Given the description of an element on the screen output the (x, y) to click on. 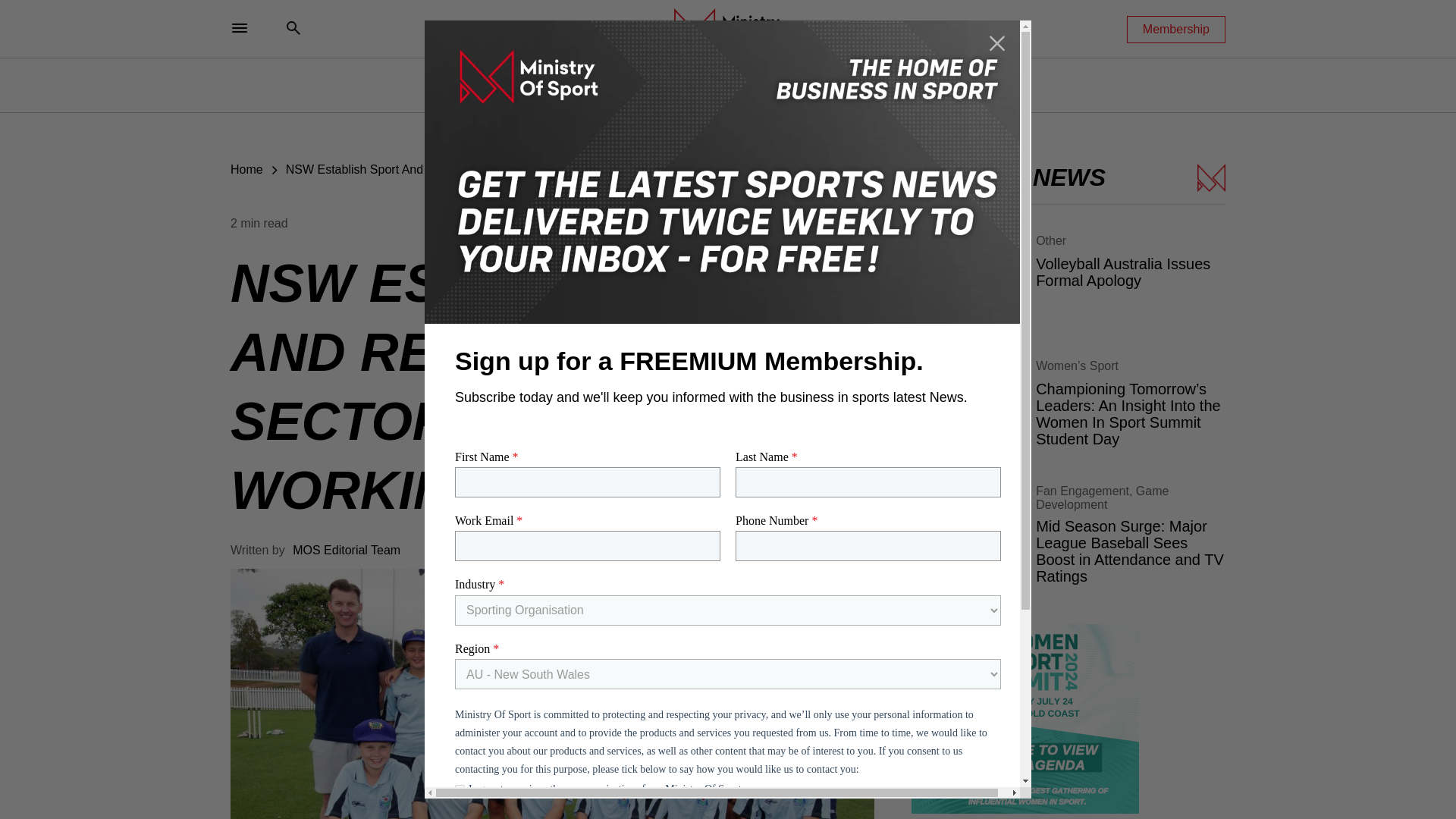
Volleyball Australia Issues Formal Apology (1068, 276)
Podcasts (857, 85)
Membership (1175, 29)
Ministry of Sport (727, 28)
Education (782, 85)
Home (246, 169)
